Given the description of an element on the screen output the (x, y) to click on. 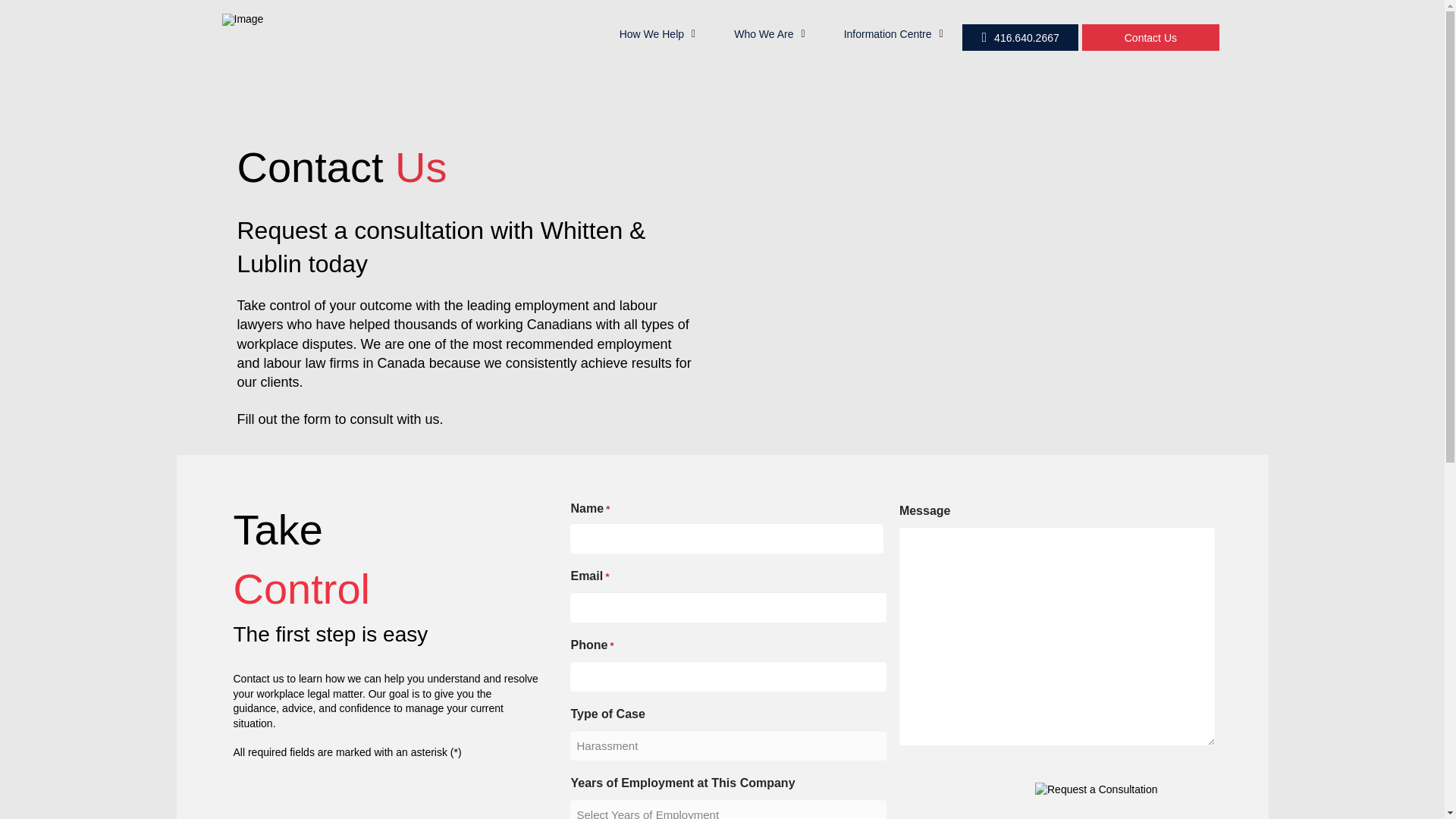
Contact Us (1149, 37)
How We Help (656, 33)
Information Centre (893, 33)
416.640.2667 (1020, 37)
Who We Are (769, 33)
